Given the description of an element on the screen output the (x, y) to click on. 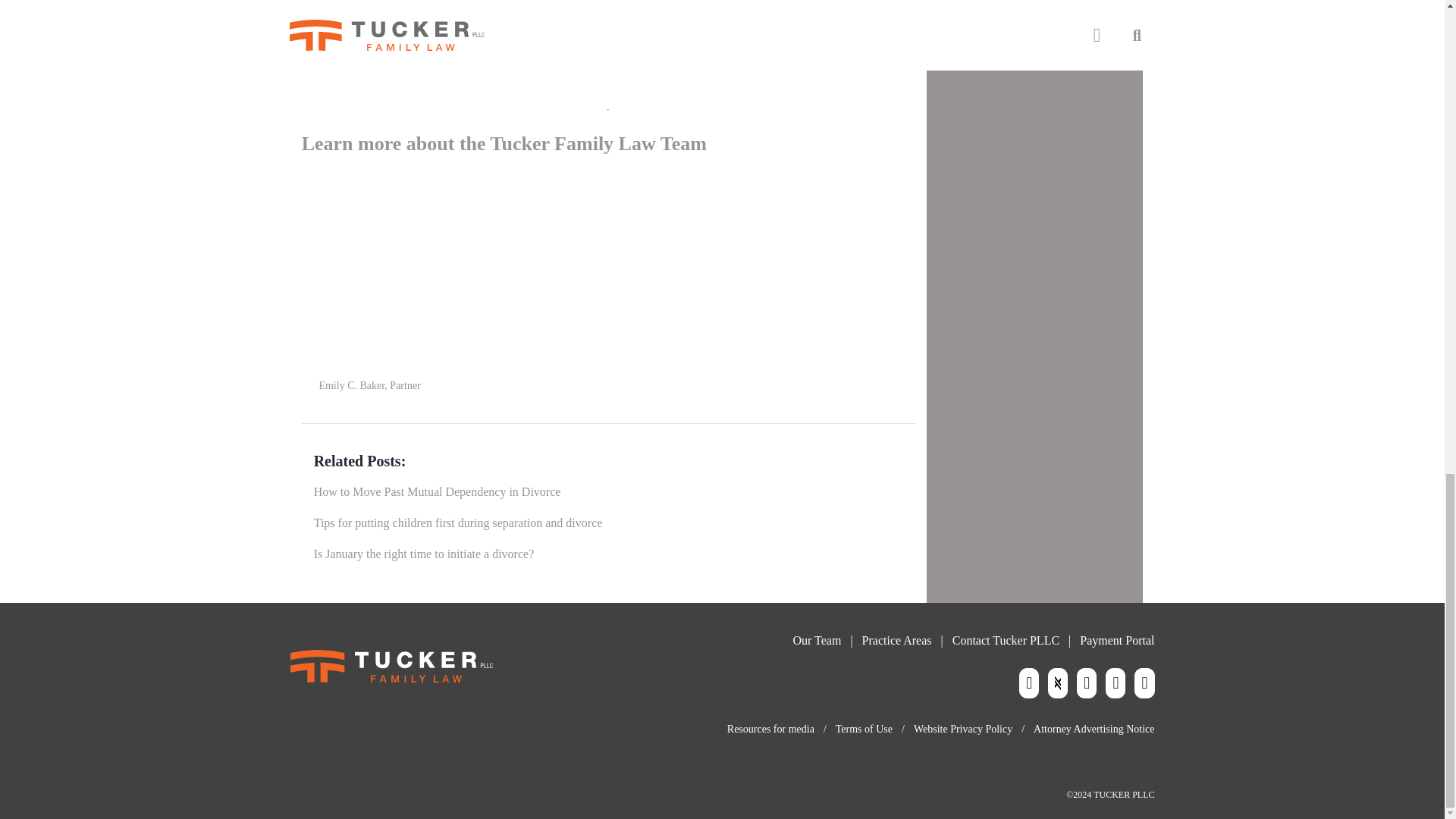
Is January the right time to initiate a divorce? (424, 553)
How to Move Past Mutual Dependency in Divorce (437, 491)
